Given the description of an element on the screen output the (x, y) to click on. 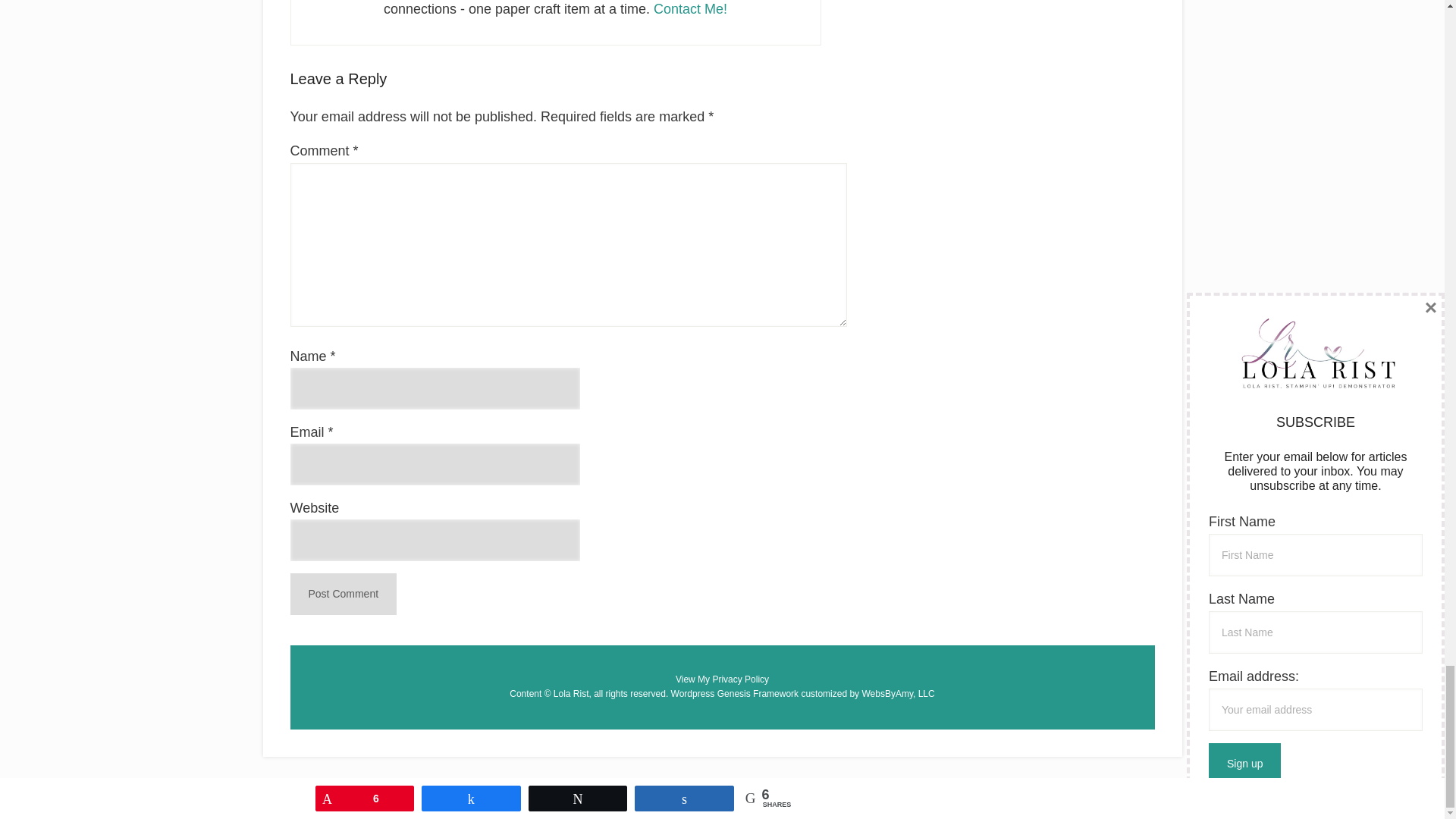
Post Comment (342, 594)
